Given the description of an element on the screen output the (x, y) to click on. 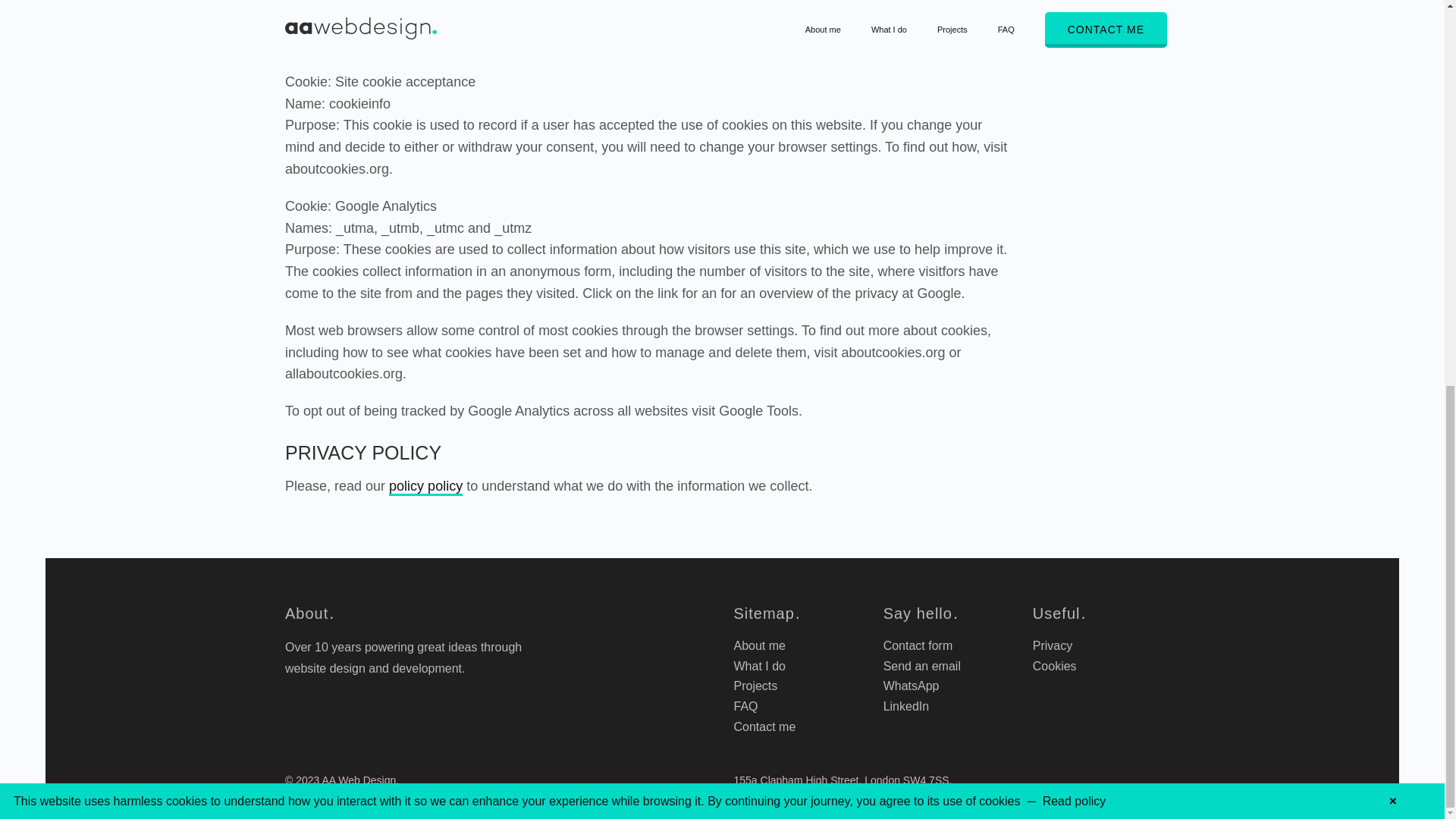
Cookies (1054, 666)
allaboutcookies.org (344, 373)
privacy at Google (907, 293)
LinkedIn (906, 706)
Read policy (1074, 72)
aboutcookies.org (892, 351)
WhatsApp (911, 685)
policy policy (425, 487)
Contact form (918, 645)
155a Clapham High Street, London SW4 7SS. (842, 779)
About me (758, 645)
Contact me (763, 726)
aboutcookies.org (336, 168)
FAQ (745, 706)
Google Tools (758, 410)
